Given the description of an element on the screen output the (x, y) to click on. 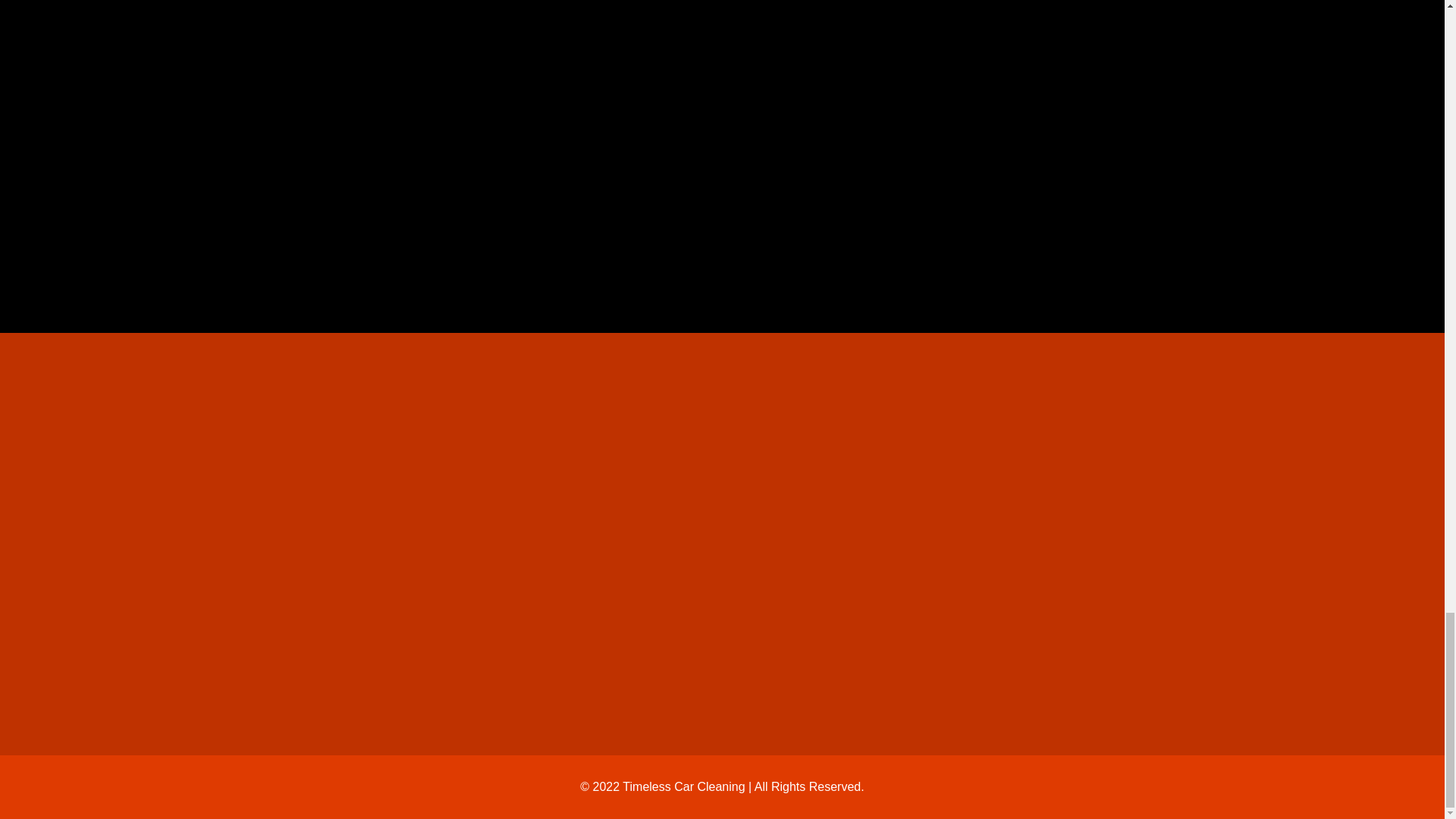
SUBMIT MESSAGE (978, 204)
